Given the description of an element on the screen output the (x, y) to click on. 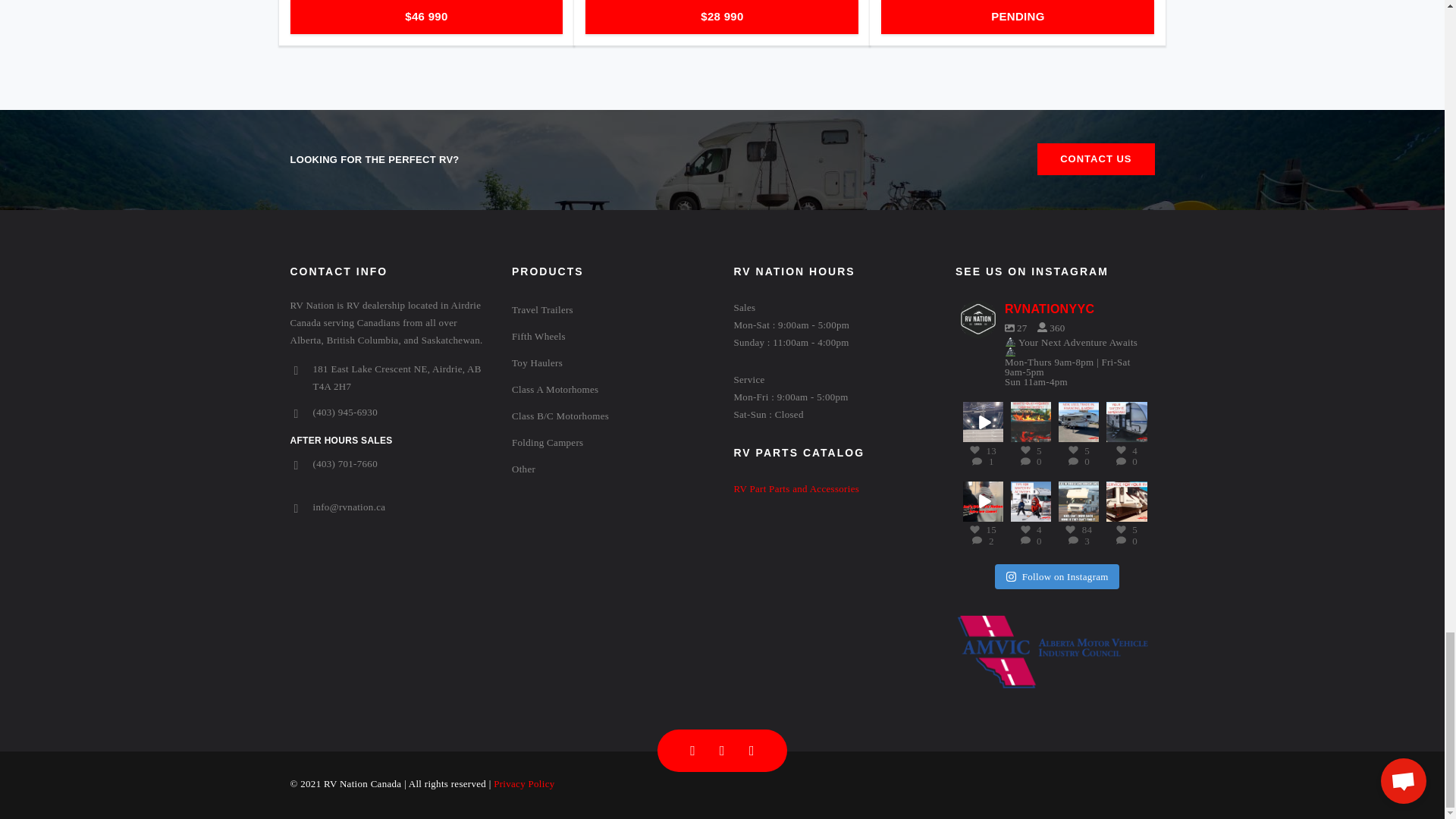
button (1095, 159)
